Given the description of an element on the screen output the (x, y) to click on. 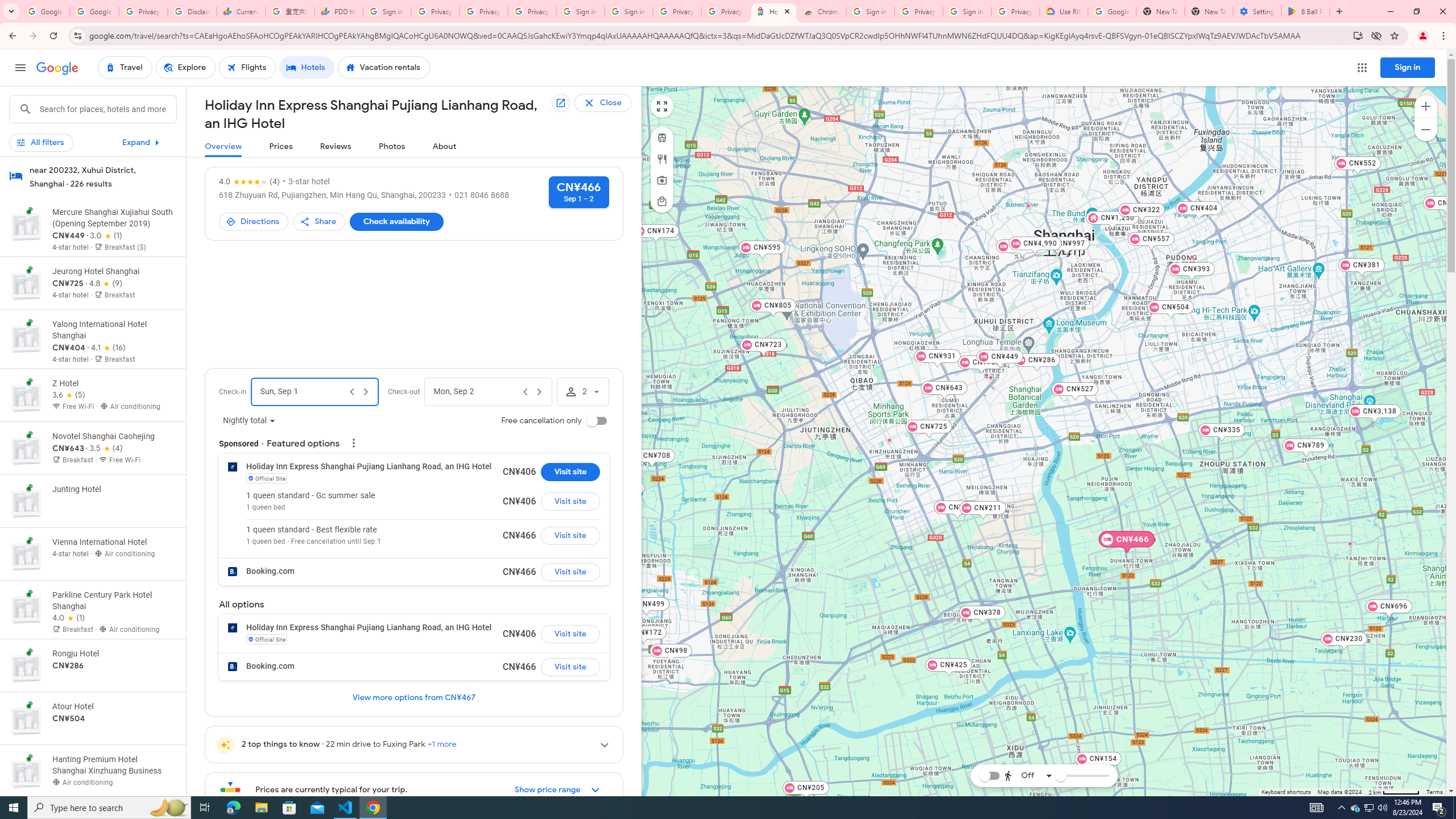
4 out of 5 stars from 1 reviews (68, 618)
3.5 out of 5 stars from 4 reviews (105, 448)
View larger map (661, 106)
Back to list of all results (612, 103)
Areas for dining (661, 158)
Toggle reachability layer (988, 775)
Open My Ad Center (352, 441)
Vienna International Hotel (1027, 205)
